Given the description of an element on the screen output the (x, y) to click on. 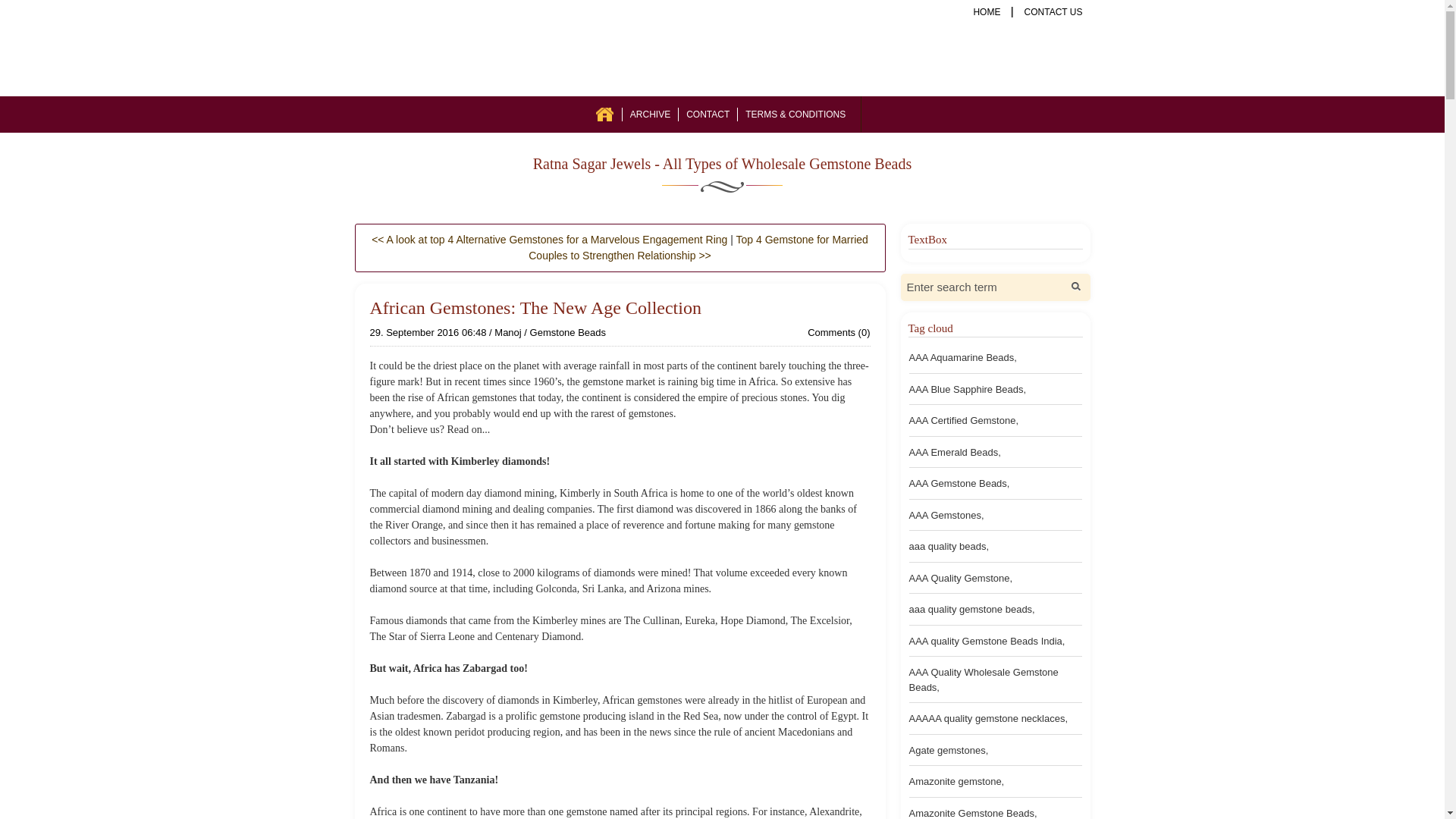
ARCHIVE (649, 113)
CONTACT (707, 113)
Next post (548, 239)
Subscribe (1071, 113)
Gemstone Beads (567, 332)
African Gemstones: The New Age Collection (535, 307)
CONTACT US (1053, 11)
Search (1075, 286)
Enter search term (982, 286)
Ratna Sagar Jewels - All Types of Wholesale Gemstone Beads (721, 163)
